Given the description of an element on the screen output the (x, y) to click on. 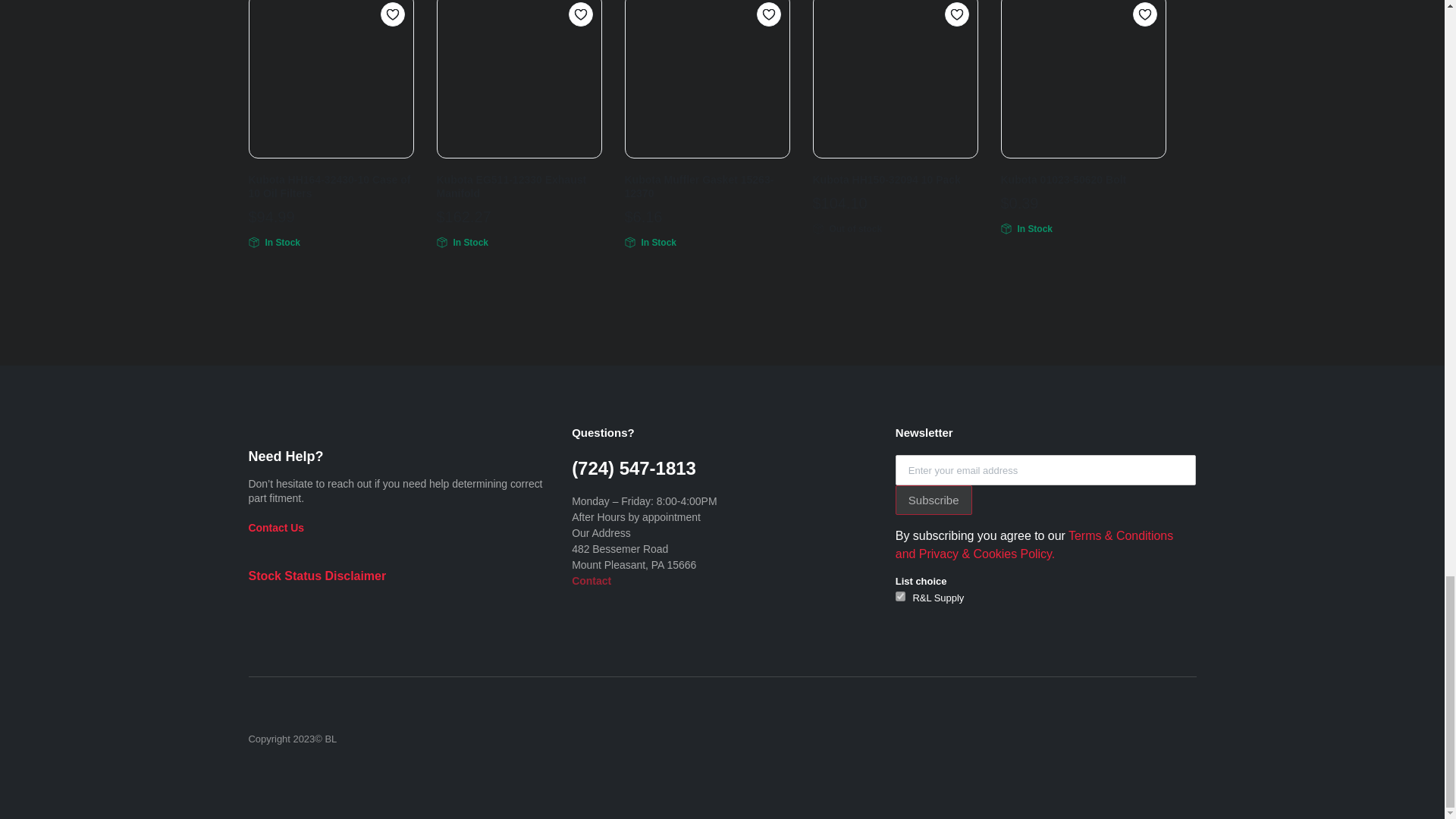
7007f7d218 (900, 596)
